Given the description of an element on the screen output the (x, y) to click on. 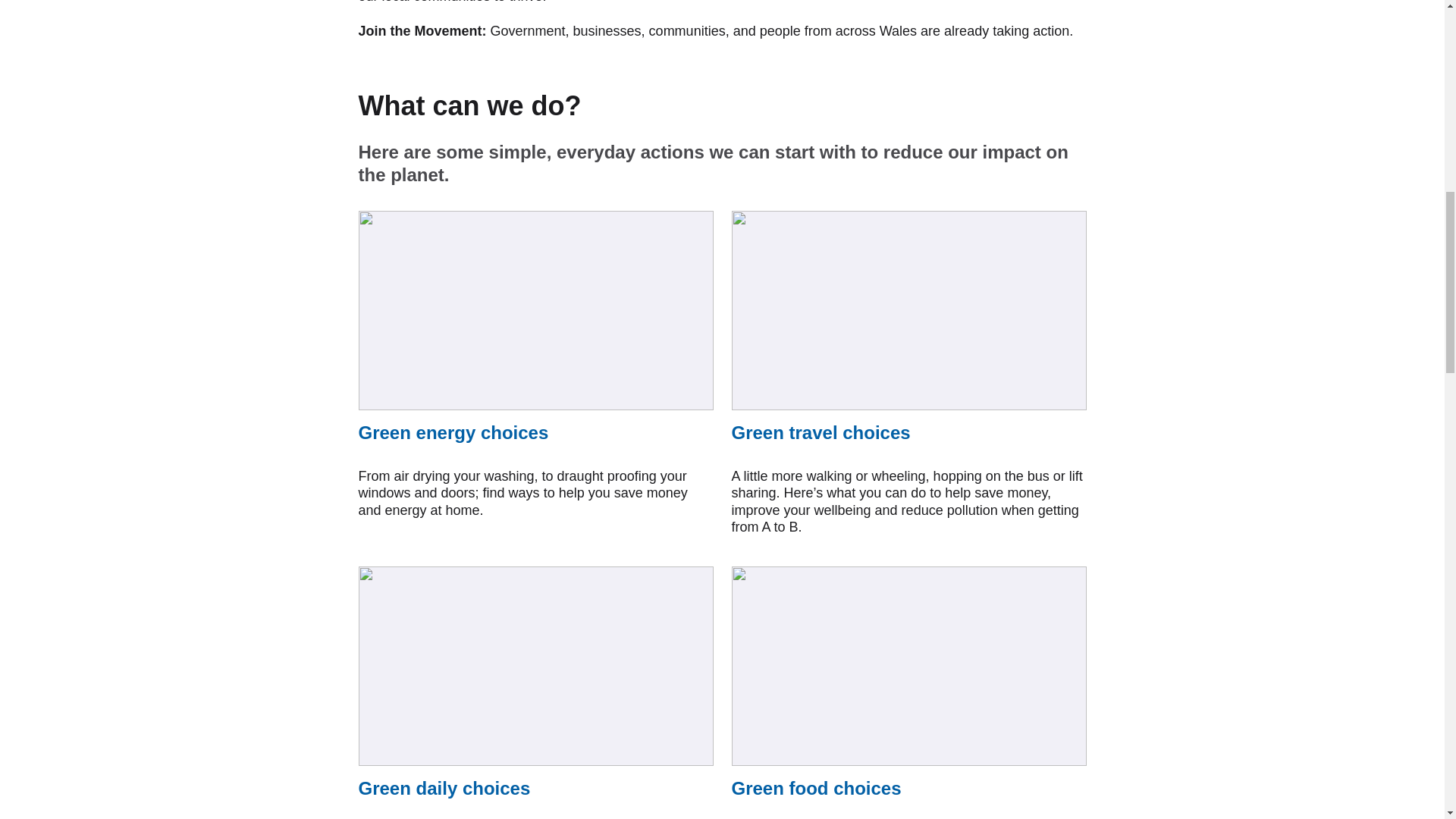
Link to Green food choices (908, 692)
Link to Green travel choices (908, 373)
Link to Green daily choices (535, 692)
Link to Green energy choices (535, 373)
